Given the description of an element on the screen output the (x, y) to click on. 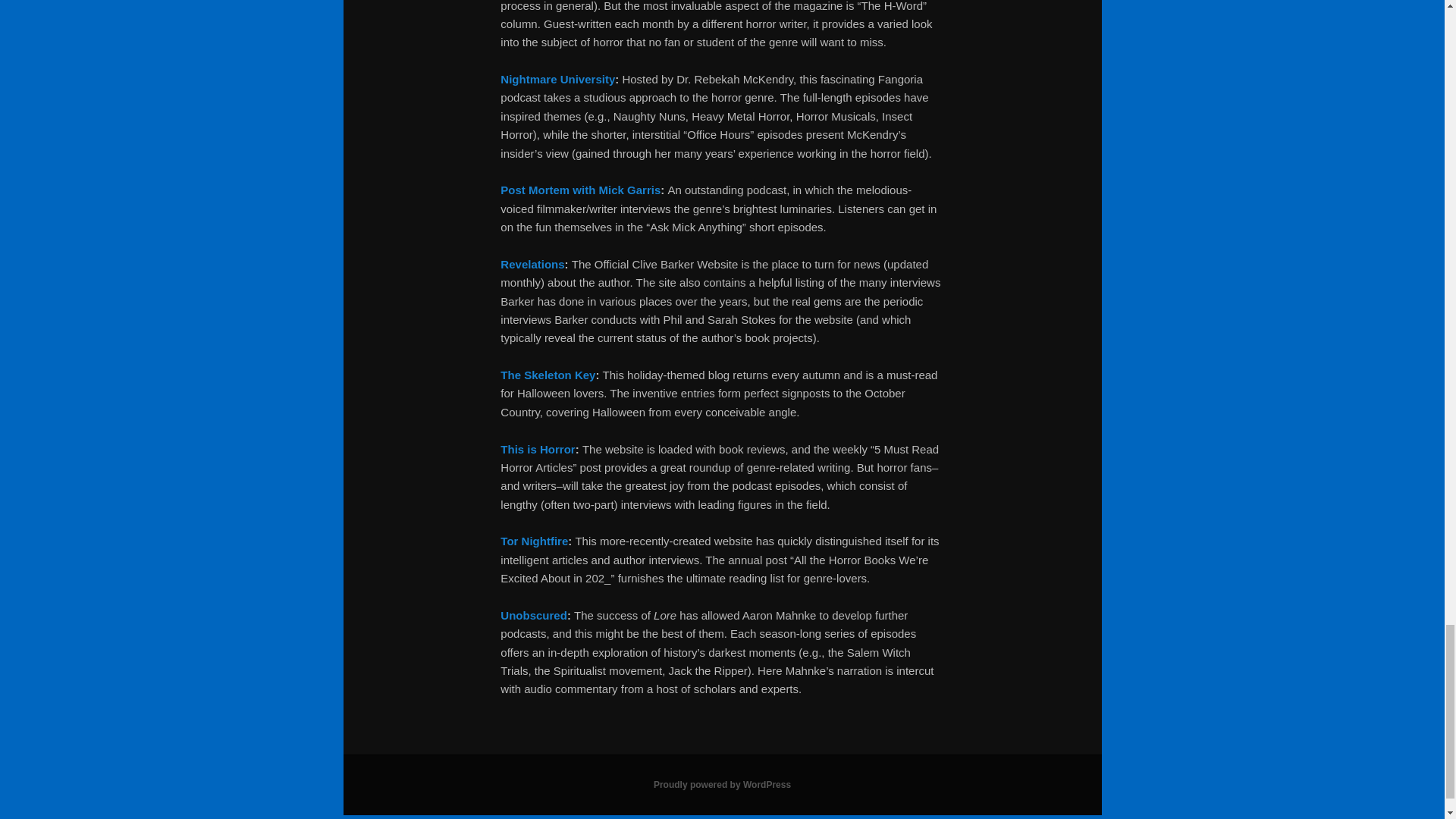
The Skeleton Key (547, 374)
Nightmare University (557, 78)
Semantic Personal Publishing Platform (721, 784)
Post Mortem with Mick Garris (580, 189)
Revelations (532, 264)
